Given the description of an element on the screen output the (x, y) to click on. 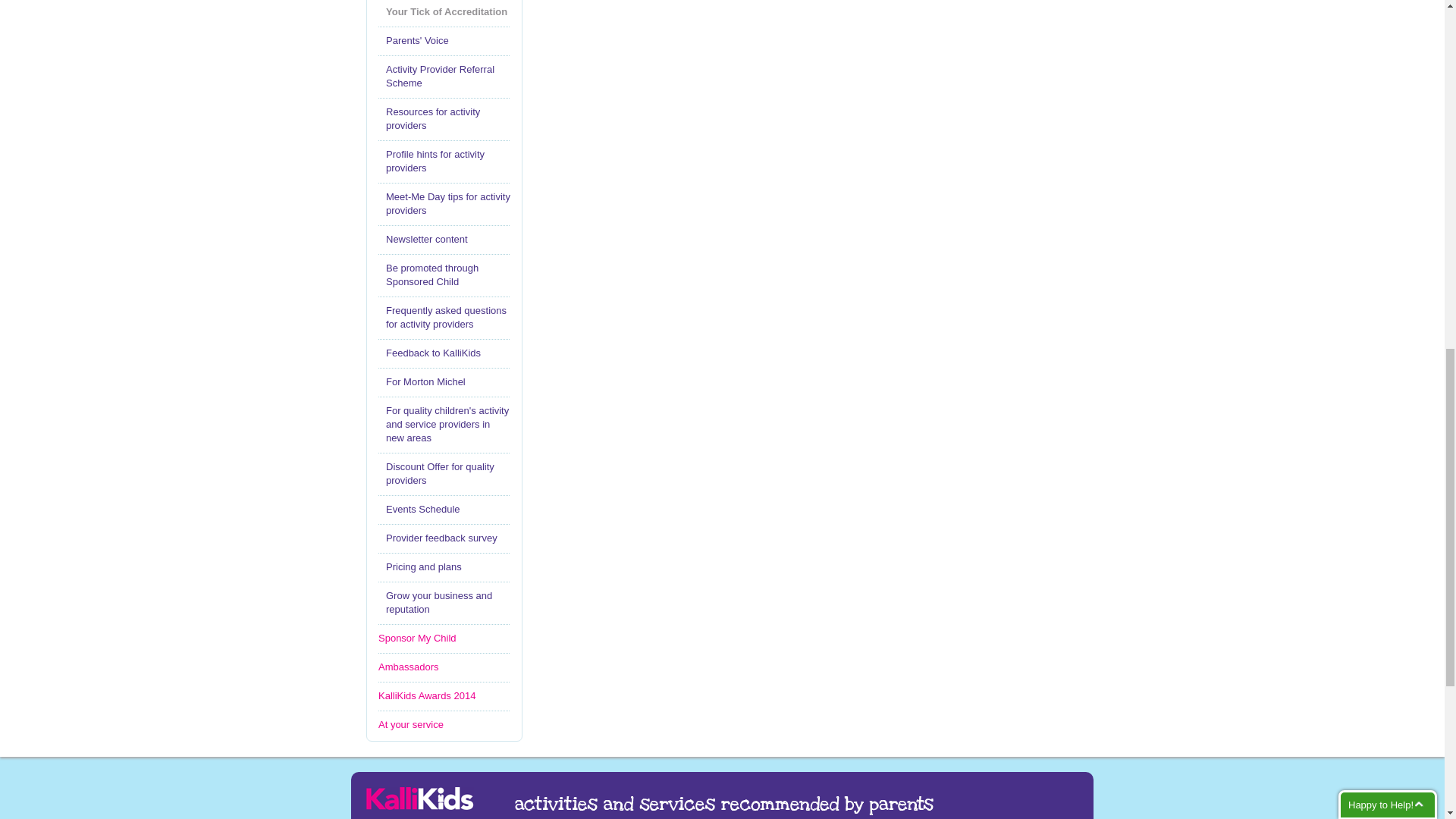
Parents' Voice (444, 40)
Feedback to KalliKids (444, 353)
Resources for activity providers (444, 118)
Meet-Me Day tips for activity providers (444, 203)
Newsletter content (444, 239)
Frequently asked questions for activity providers (444, 317)
Profile hints for activity providers (444, 161)
Activity Provider Referral Scheme (444, 76)
Your Tick of Accreditation (444, 11)
Be promoted through Sponsored Child (444, 275)
